Given the description of an element on the screen output the (x, y) to click on. 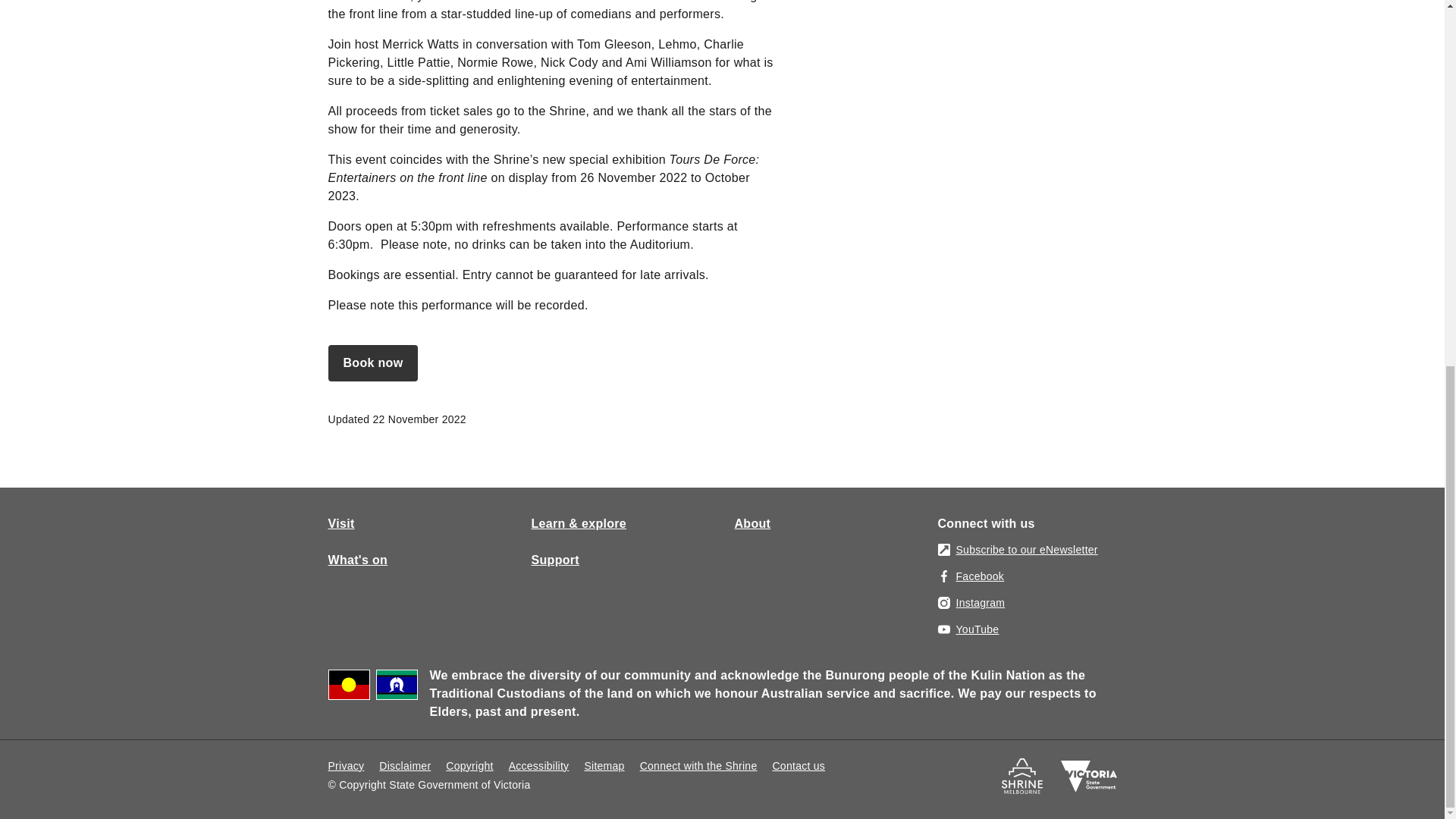
Subscribe to our eNewsletter (1017, 548)
About (751, 522)
Contact us (798, 766)
Support (554, 559)
Book now (372, 361)
Privacy (345, 766)
YouTube (967, 629)
What's on (357, 559)
Disclaimer (404, 766)
Sitemap (603, 766)
